Given the description of an element on the screen output the (x, y) to click on. 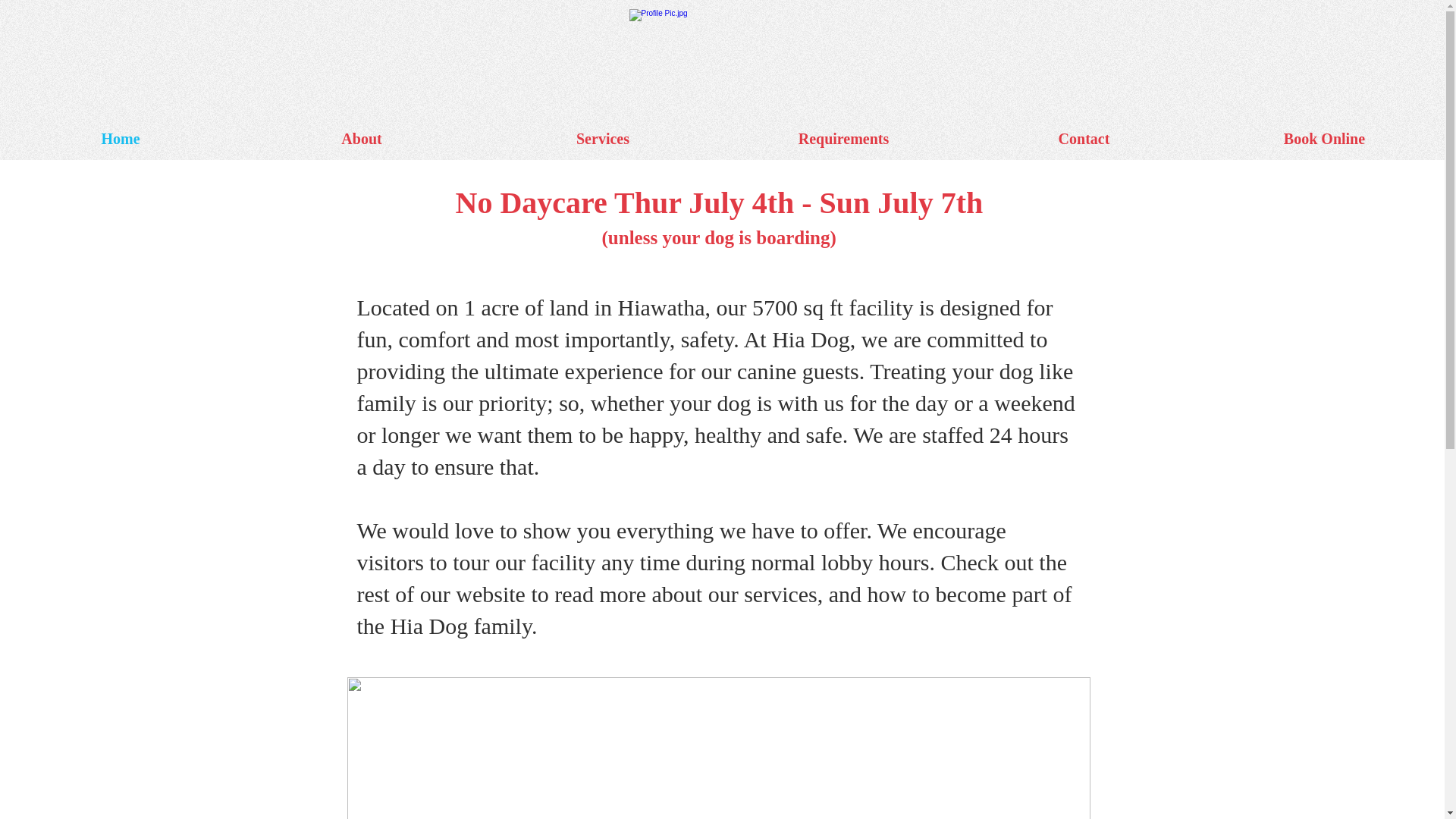
About (361, 139)
Contact (1083, 139)
Requirements (843, 139)
Services (602, 139)
Home (120, 139)
